Given the description of an element on the screen output the (x, y) to click on. 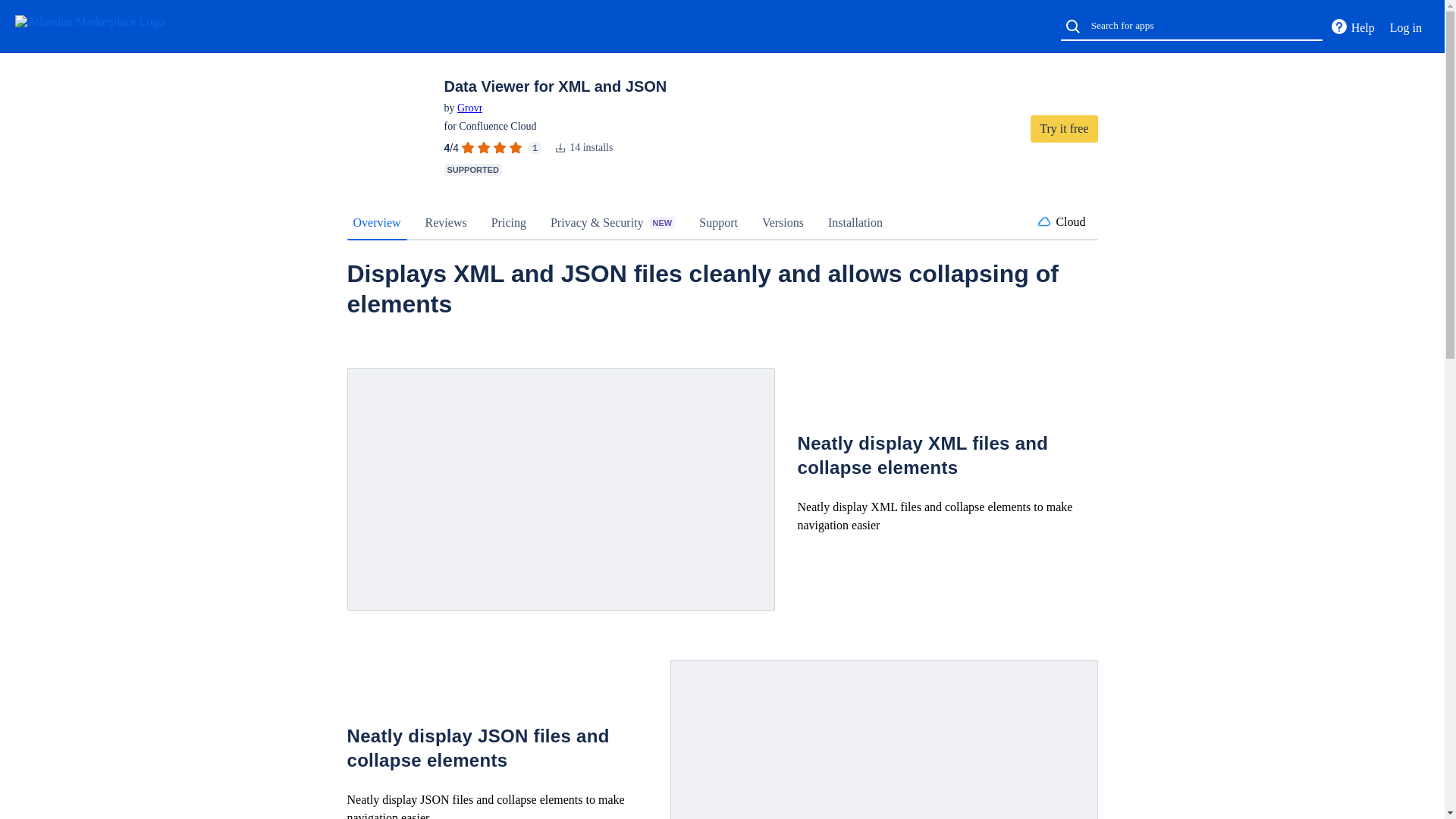
Log in (1405, 26)
Grovr (469, 107)
Atlassian Marketplace (105, 26)
Help (1351, 26)
Try it free (1063, 129)
